Given the description of an element on the screen output the (x, y) to click on. 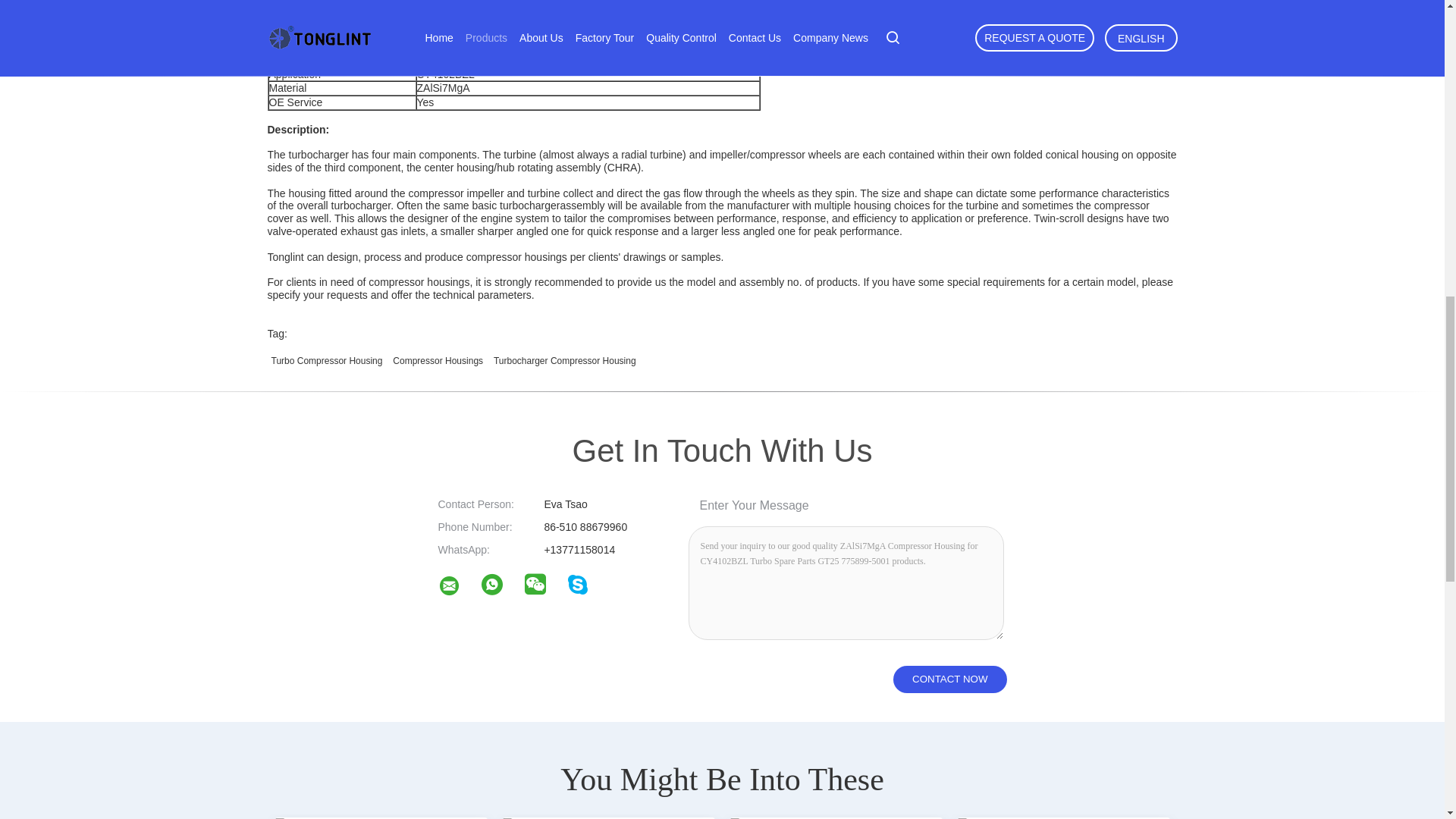
Turbo Compressor Housing (325, 360)
Compressor Housings (437, 360)
Contact Now (949, 678)
Turbocharger Compressor Housing (564, 360)
Contact Now (949, 678)
